Given the description of an element on the screen output the (x, y) to click on. 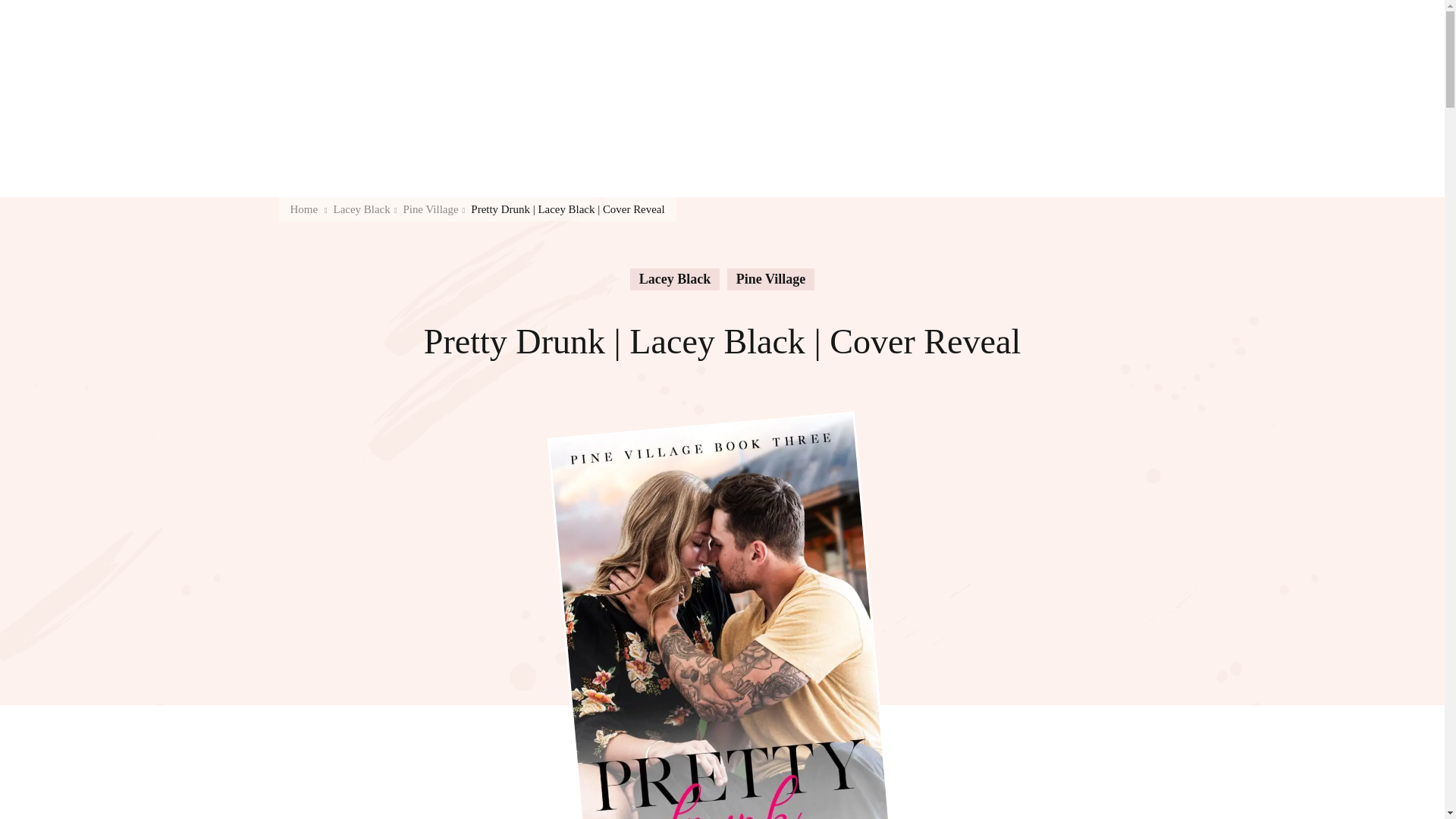
Lacey Black (675, 279)
Lacey Black (361, 208)
Home (303, 208)
Pine Village (770, 279)
Pine Village (430, 208)
